Given the description of an element on the screen output the (x, y) to click on. 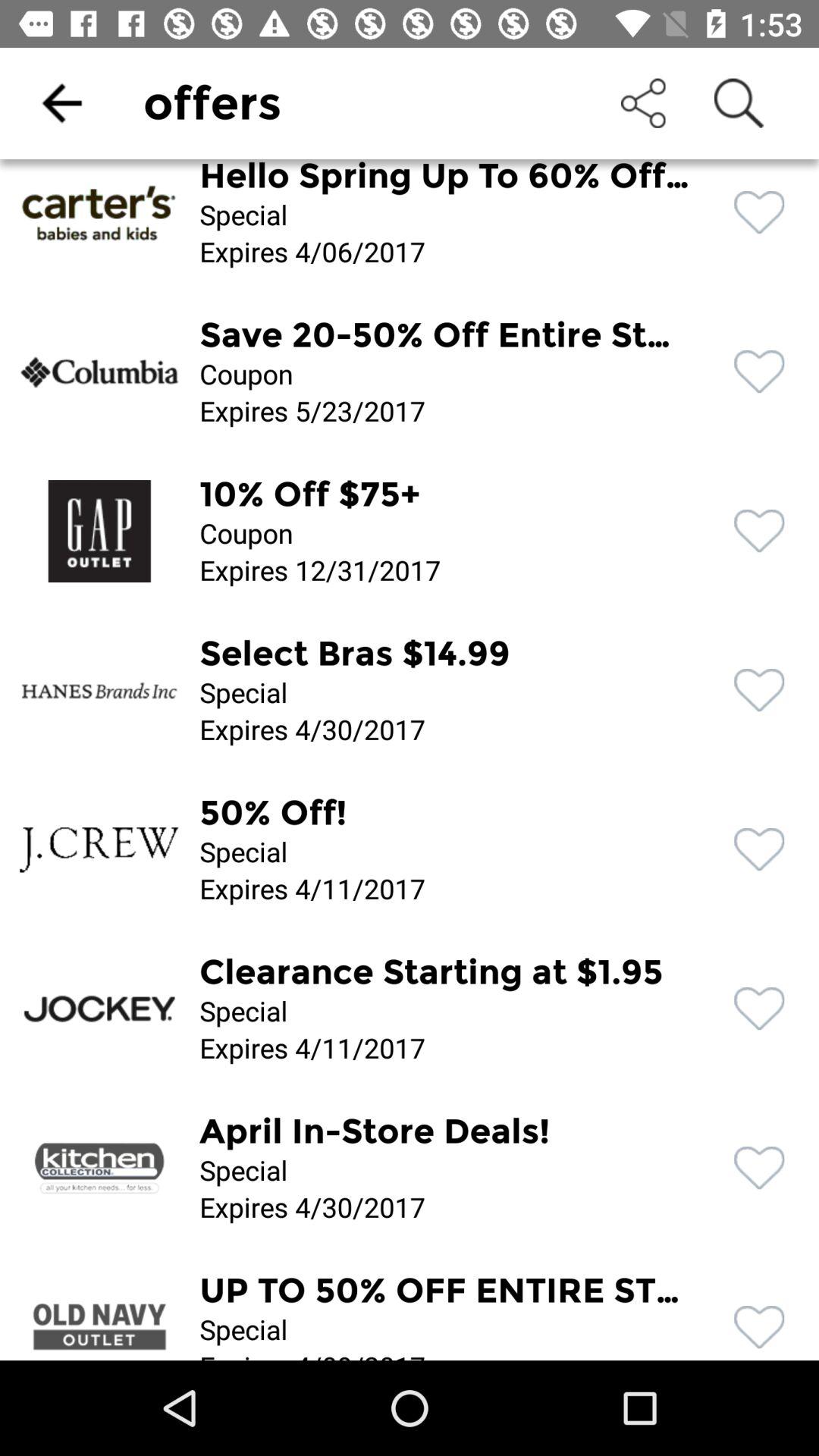
turn on the item next to offers icon (61, 103)
